Given the description of an element on the screen output the (x, y) to click on. 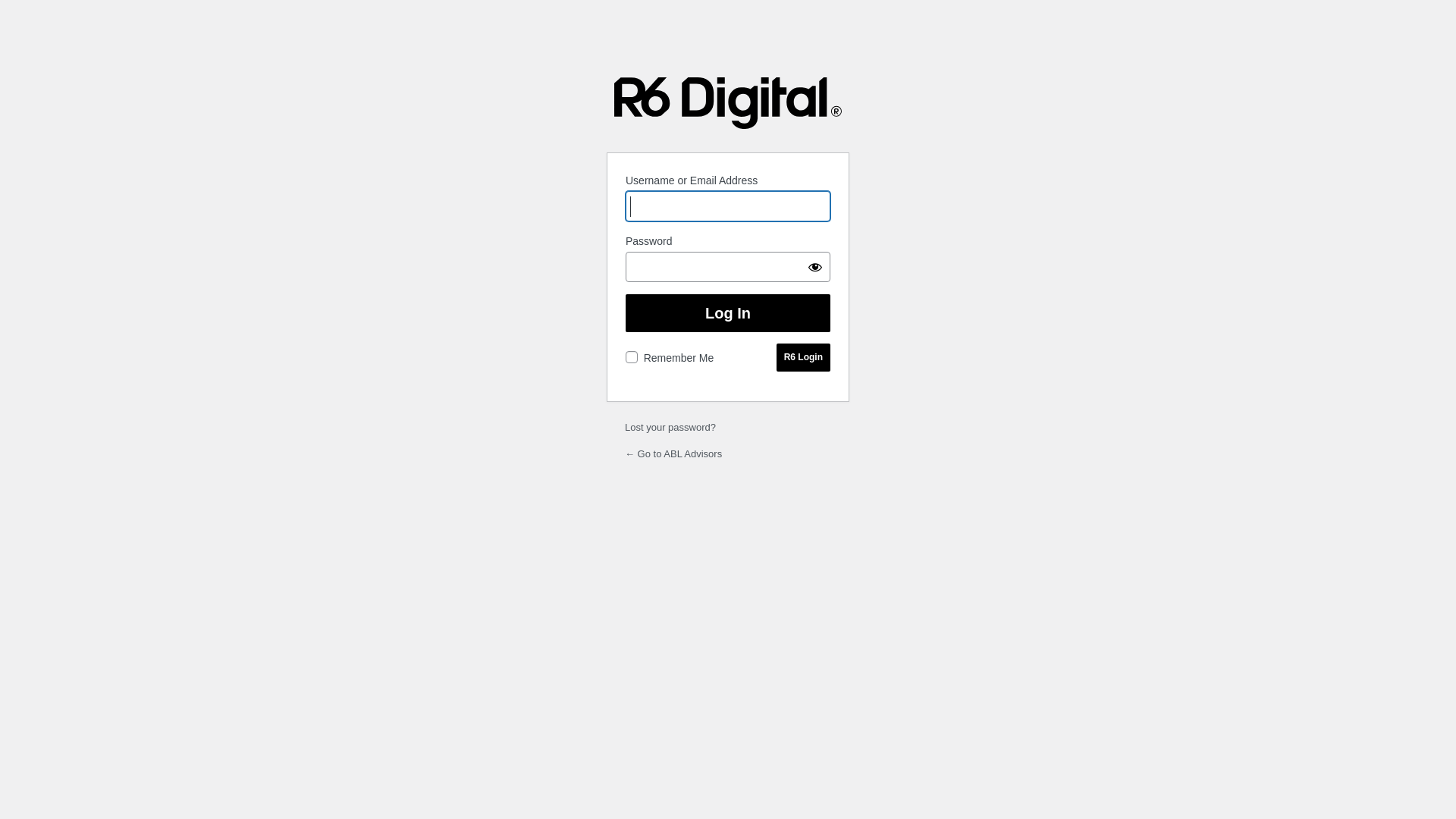
Log In Element type: text (727, 313)
Powered by WordPress Element type: text (727, 102)
R6 Element type: text (803, 357)
Lost your password? Element type: text (669, 427)
